Given the description of an element on the screen output the (x, y) to click on. 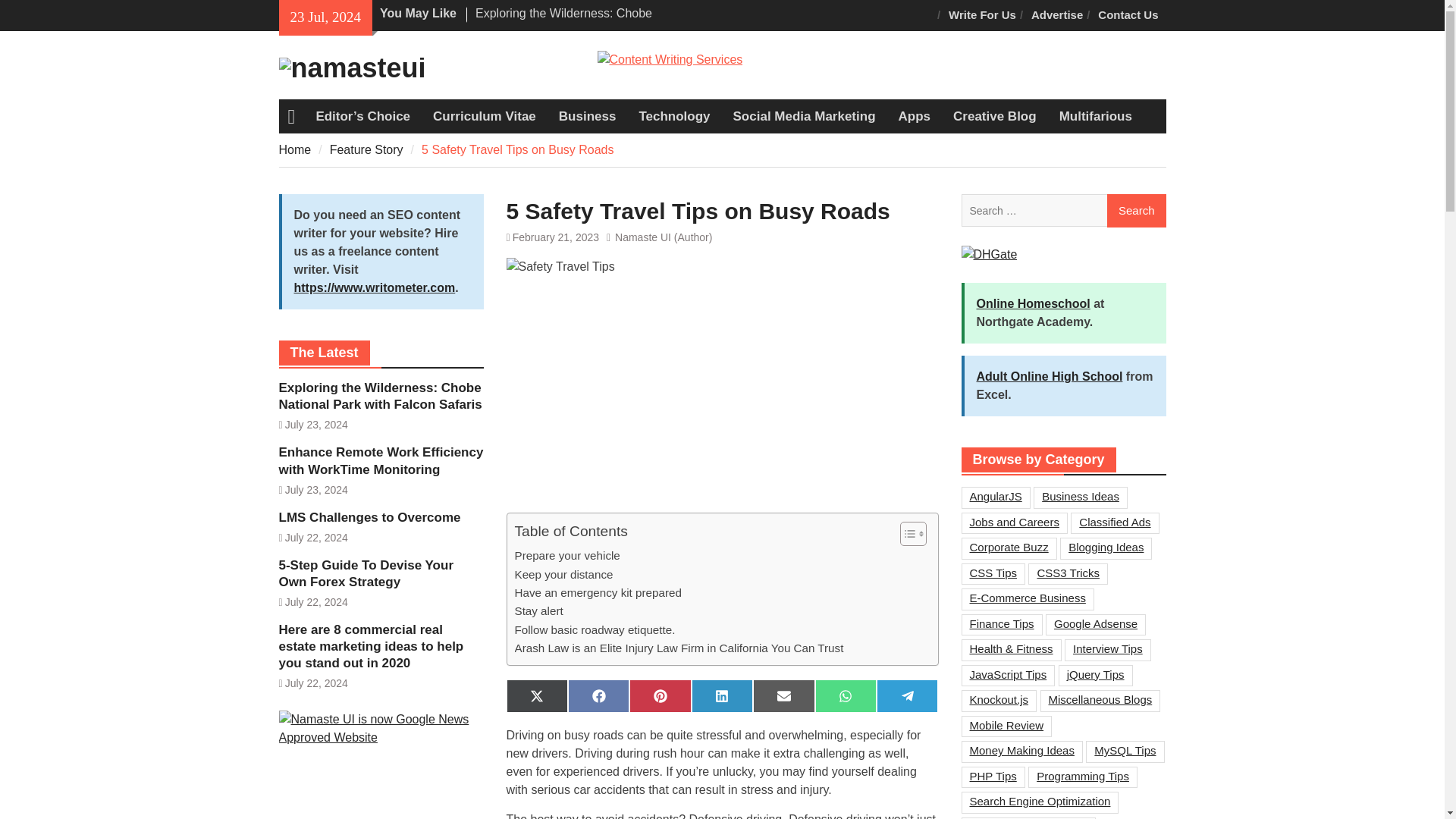
Write For Us (981, 15)
Business (587, 116)
Have an emergency kit prepared (597, 592)
Share on Facebook (597, 695)
Apps (914, 116)
Contact Us (1128, 15)
Creative Blog (995, 116)
Social Media Marketing (804, 116)
Share on WhatsApp (845, 695)
Keep your distance (562, 574)
Business (587, 116)
Curriculum Vitae (484, 116)
Stay alert (537, 610)
